Given the description of an element on the screen output the (x, y) to click on. 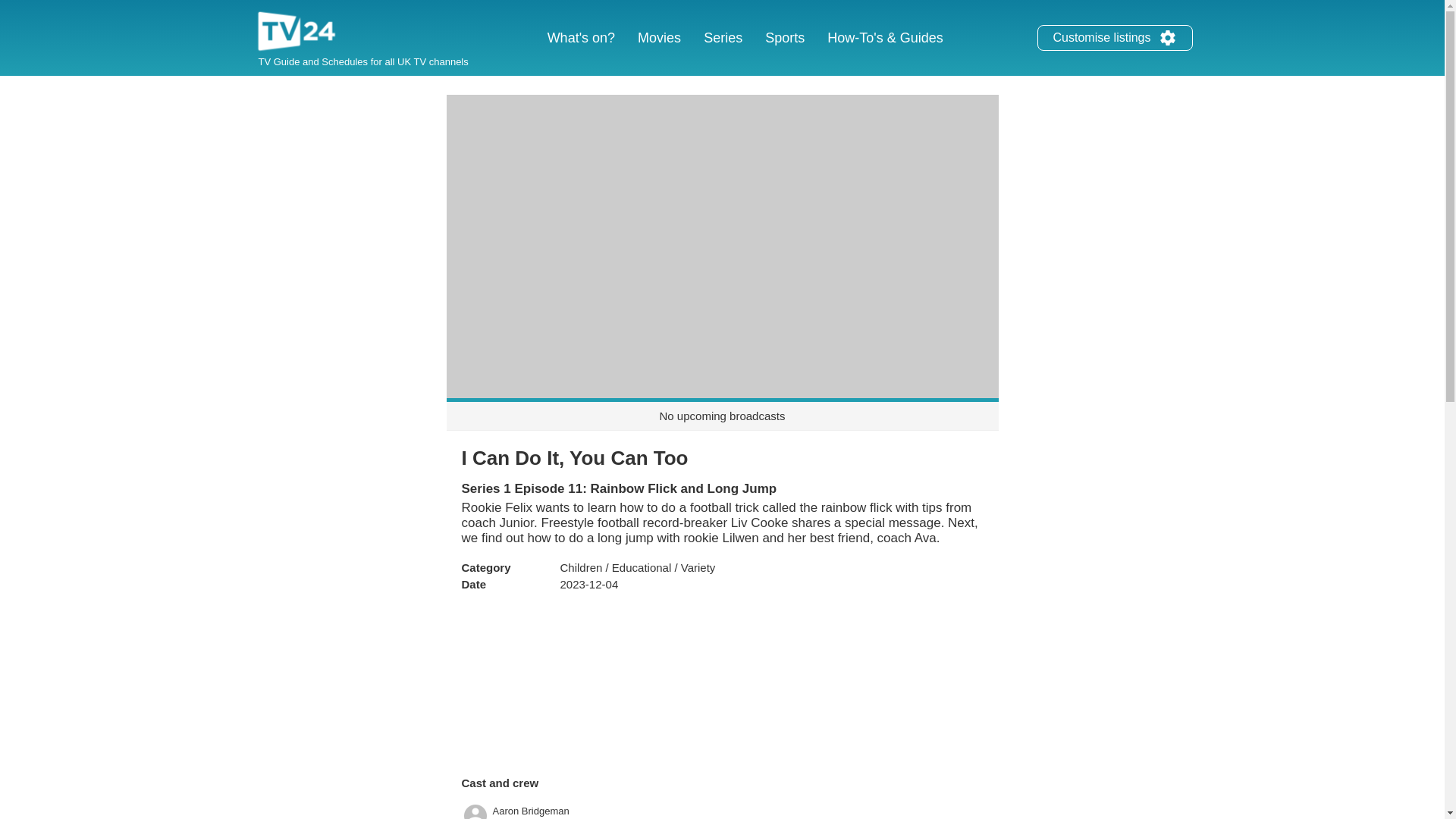
Movies (658, 37)
Customise listings (1167, 37)
What's on? (580, 37)
Customise listings (1114, 37)
Series (722, 37)
Sports (784, 37)
TV24.co.uk (296, 33)
